Given the description of an element on the screen output the (x, y) to click on. 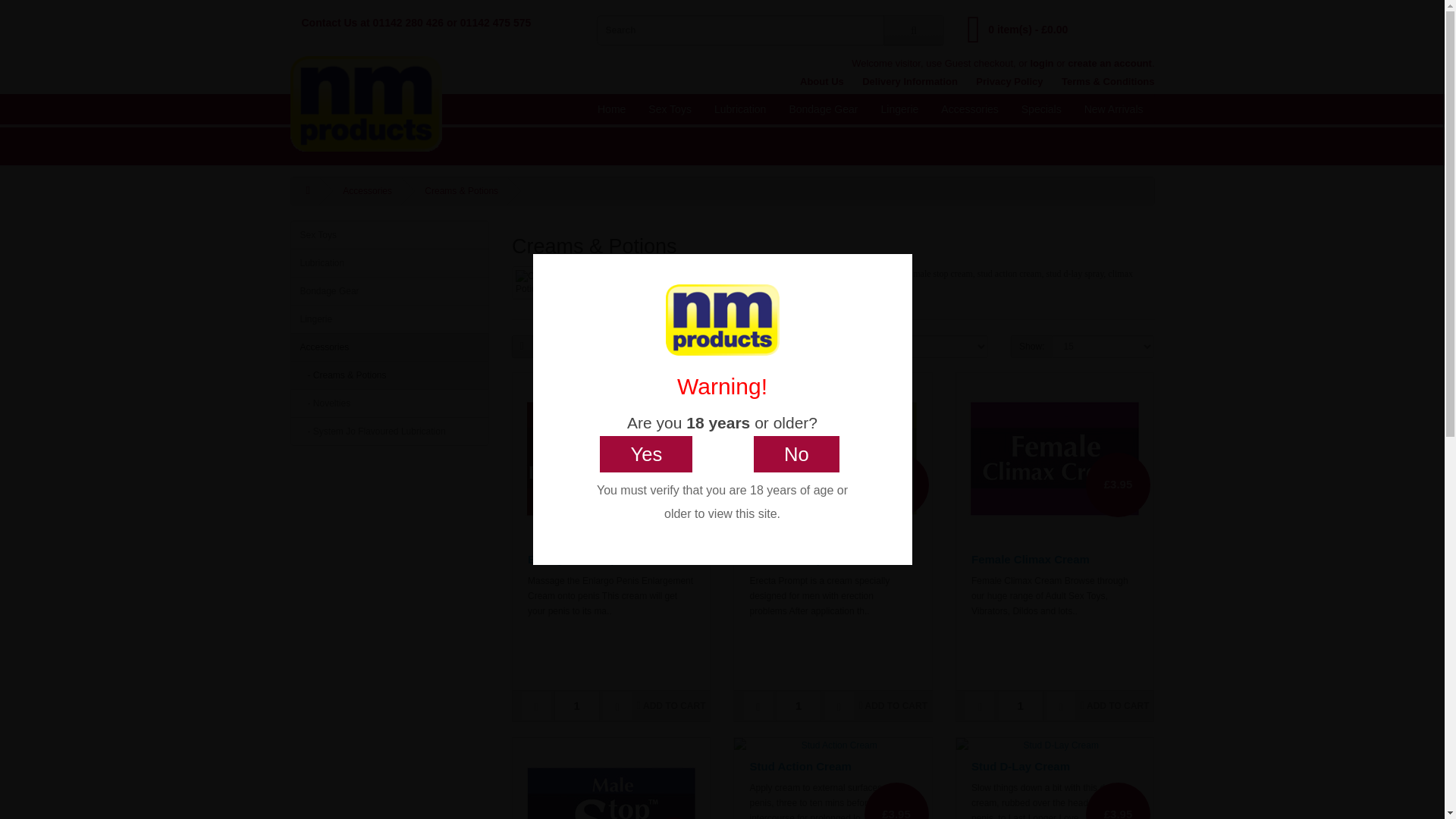
Stud Action Cream (832, 744)
Erecta Prompt Cream (833, 459)
login (1040, 62)
wholesaleadulttoys.co.uk (365, 103)
1 (1020, 706)
Enlargo Development Cream (610, 459)
Female Climax Cream (1054, 459)
About Us (821, 81)
Male Stop Cream (610, 778)
Lingerie (899, 109)
create an account (1109, 62)
Accessories (969, 109)
1 (798, 706)
Stud D-Lay Cream (1054, 744)
Lubrication (740, 109)
